Given the description of an element on the screen output the (x, y) to click on. 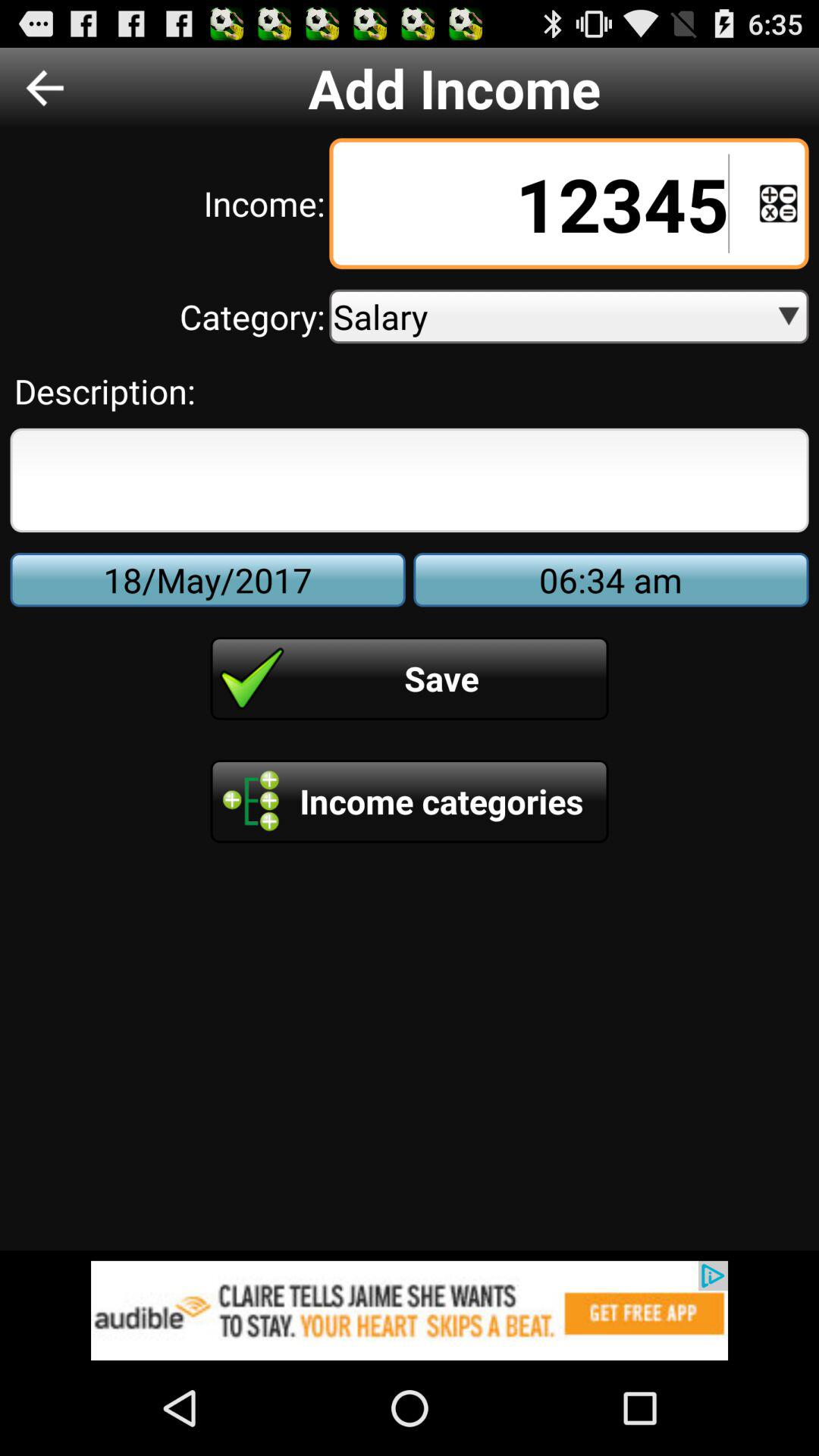
view advertisement (409, 1310)
